Given the description of an element on the screen output the (x, y) to click on. 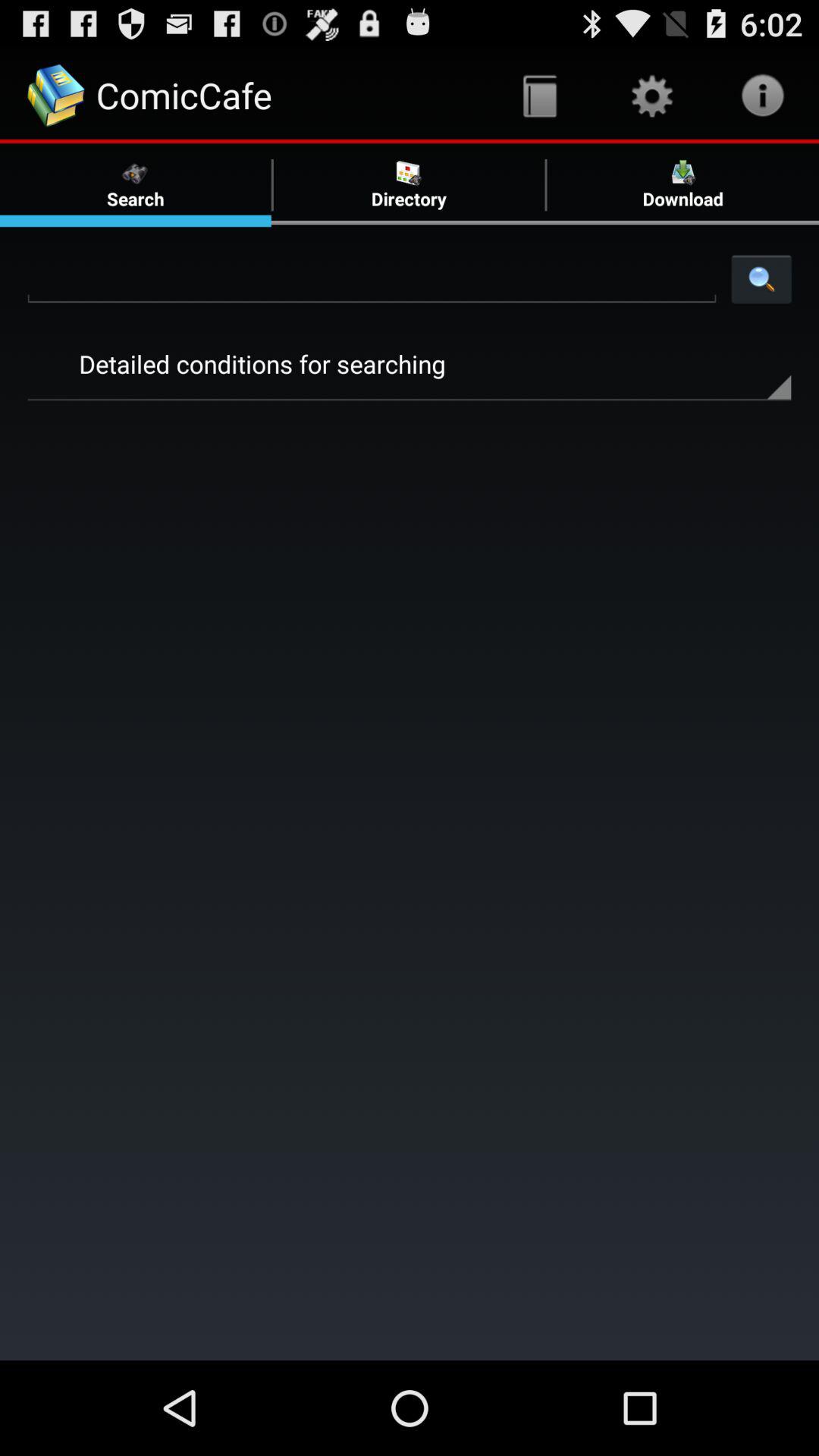
search option (371, 278)
